Given the description of an element on the screen output the (x, y) to click on. 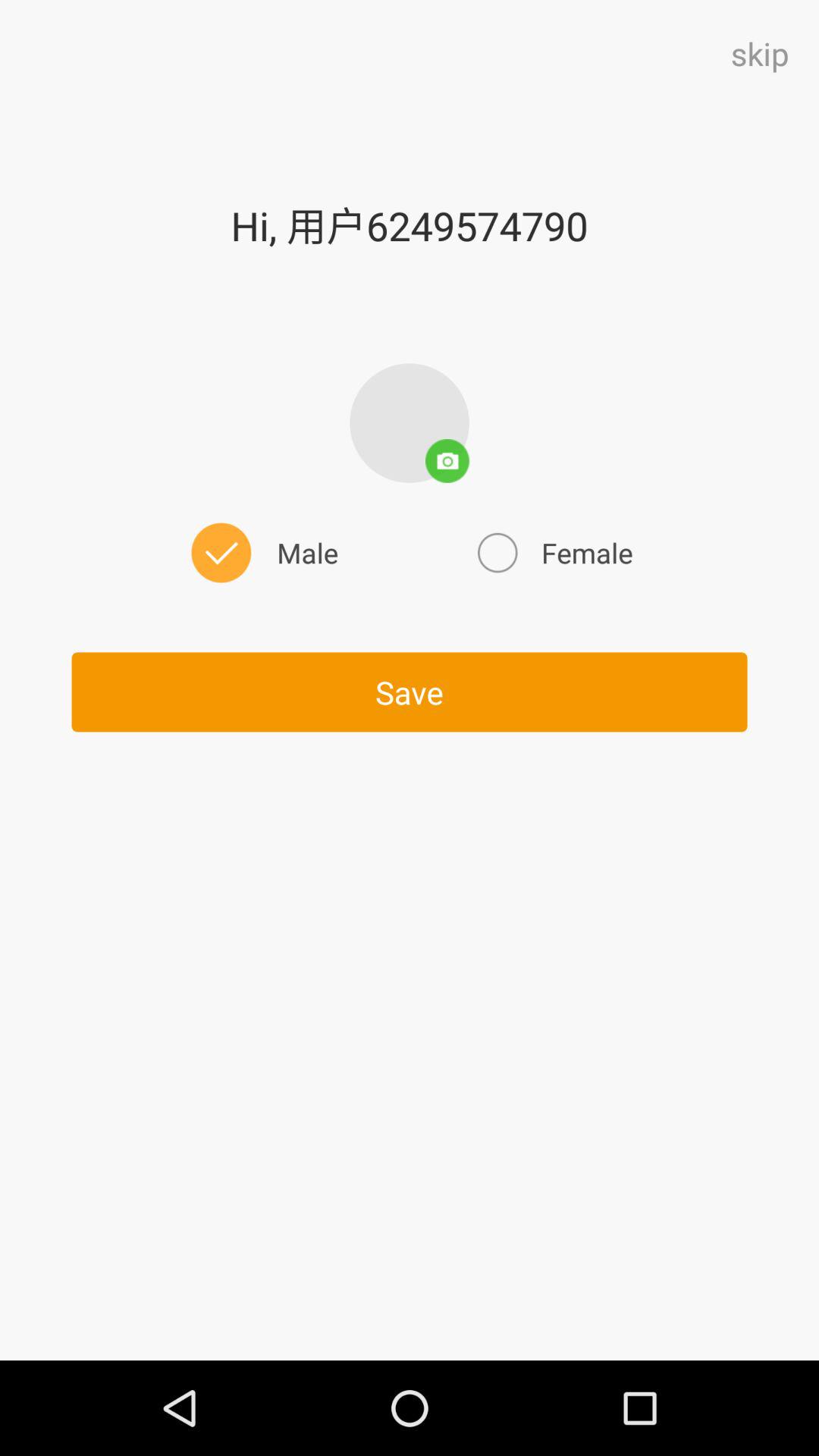
press item to the left of the female (261, 552)
